Given the description of an element on the screen output the (x, y) to click on. 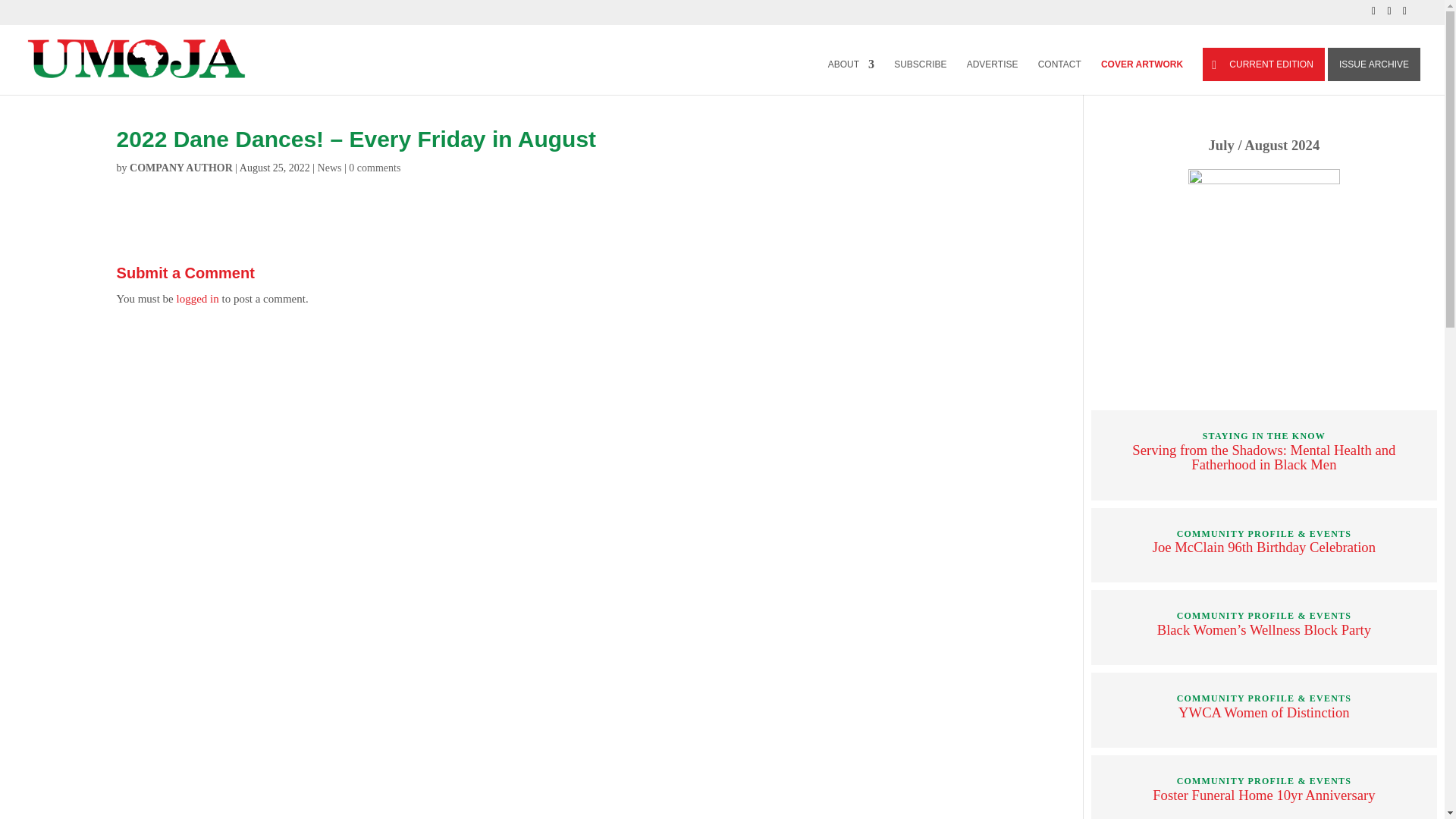
Joe McClain 96th Birthday Celebration (1264, 546)
ABOUT (851, 76)
COVER ARTWORK (1141, 76)
0 comments (374, 167)
News (329, 167)
CURRENT EDITION (1262, 64)
YWCA Women of Distinction (1263, 712)
CONTACT (1059, 76)
Foster Funeral Home 10yr Anniversary (1263, 795)
Posts by Company Author (180, 167)
ADVERTISE (991, 76)
ISSUE ARCHIVE (1374, 64)
logged in (197, 298)
SUBSCRIBE (919, 76)
